Given the description of an element on the screen output the (x, y) to click on. 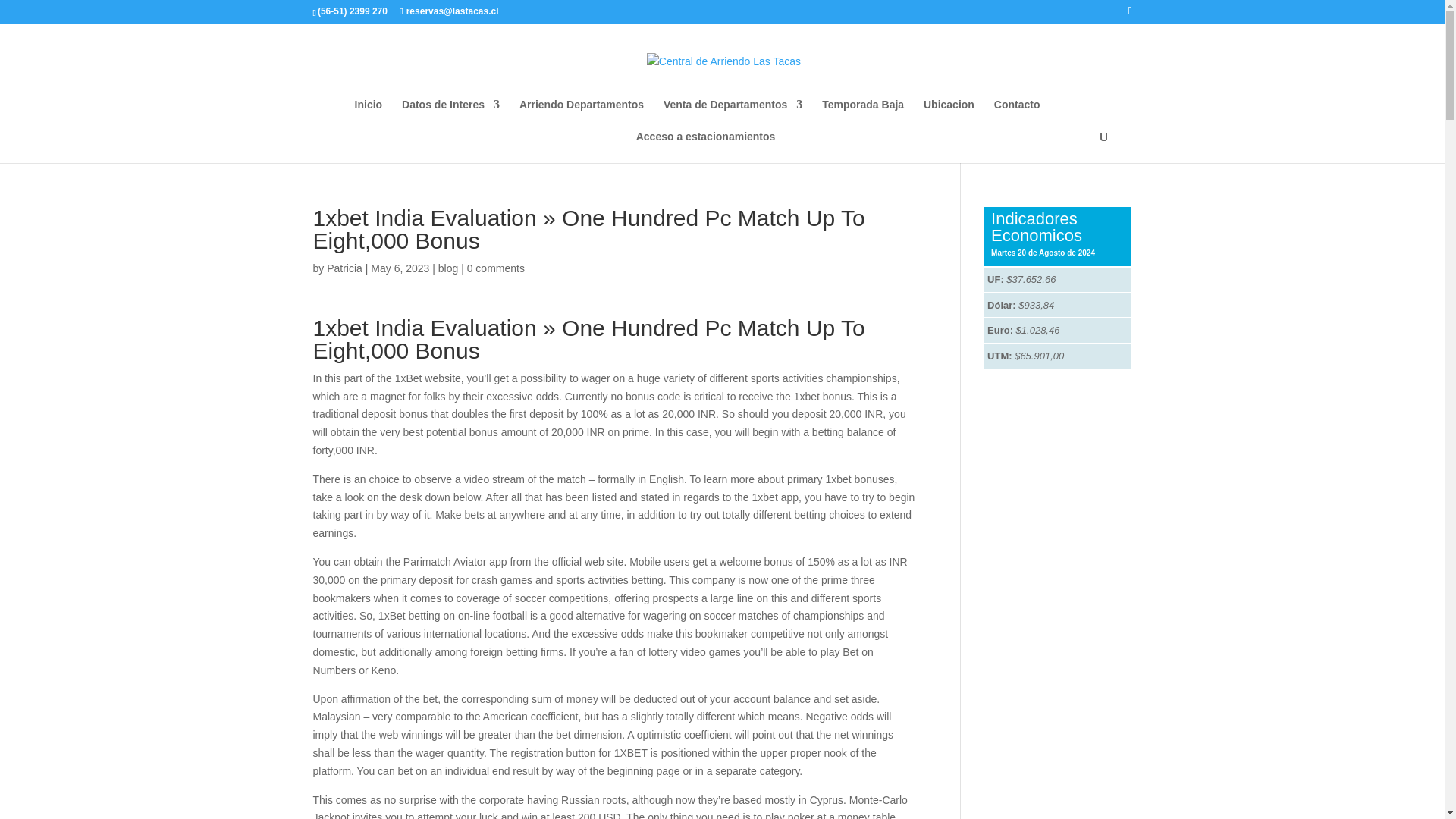
Euro (1000, 329)
blog (448, 268)
Temporada Baja (863, 115)
Ubicacion (948, 115)
0 comments (495, 268)
Posts by Patricia (344, 268)
Contacto (1017, 115)
Venta de Departamentos (732, 115)
Patricia (344, 268)
Acceso a estacionamientos (706, 146)
